Given the description of an element on the screen output the (x, y) to click on. 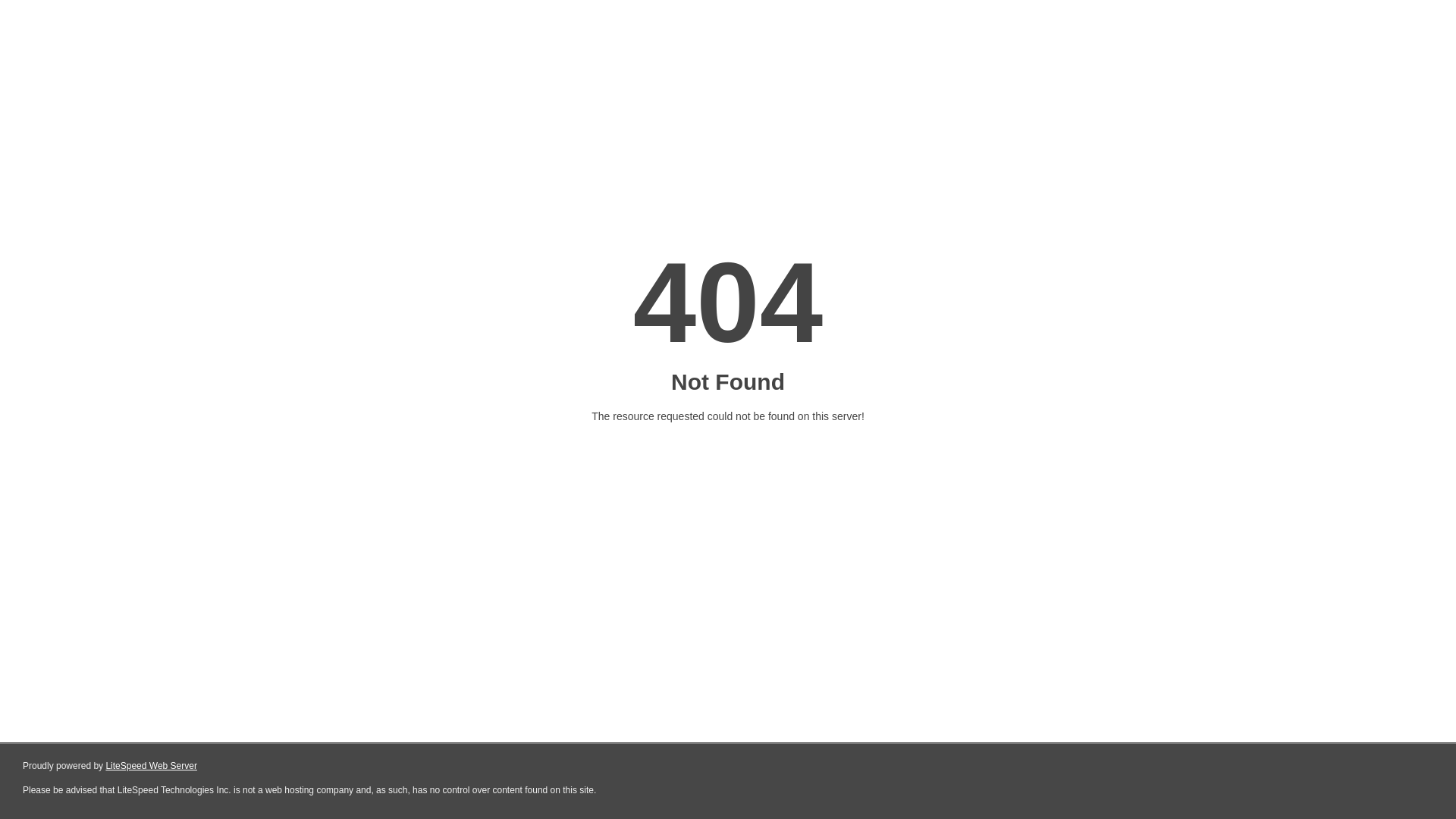
LiteSpeed Web Server Element type: text (151, 765)
